Given the description of an element on the screen output the (x, y) to click on. 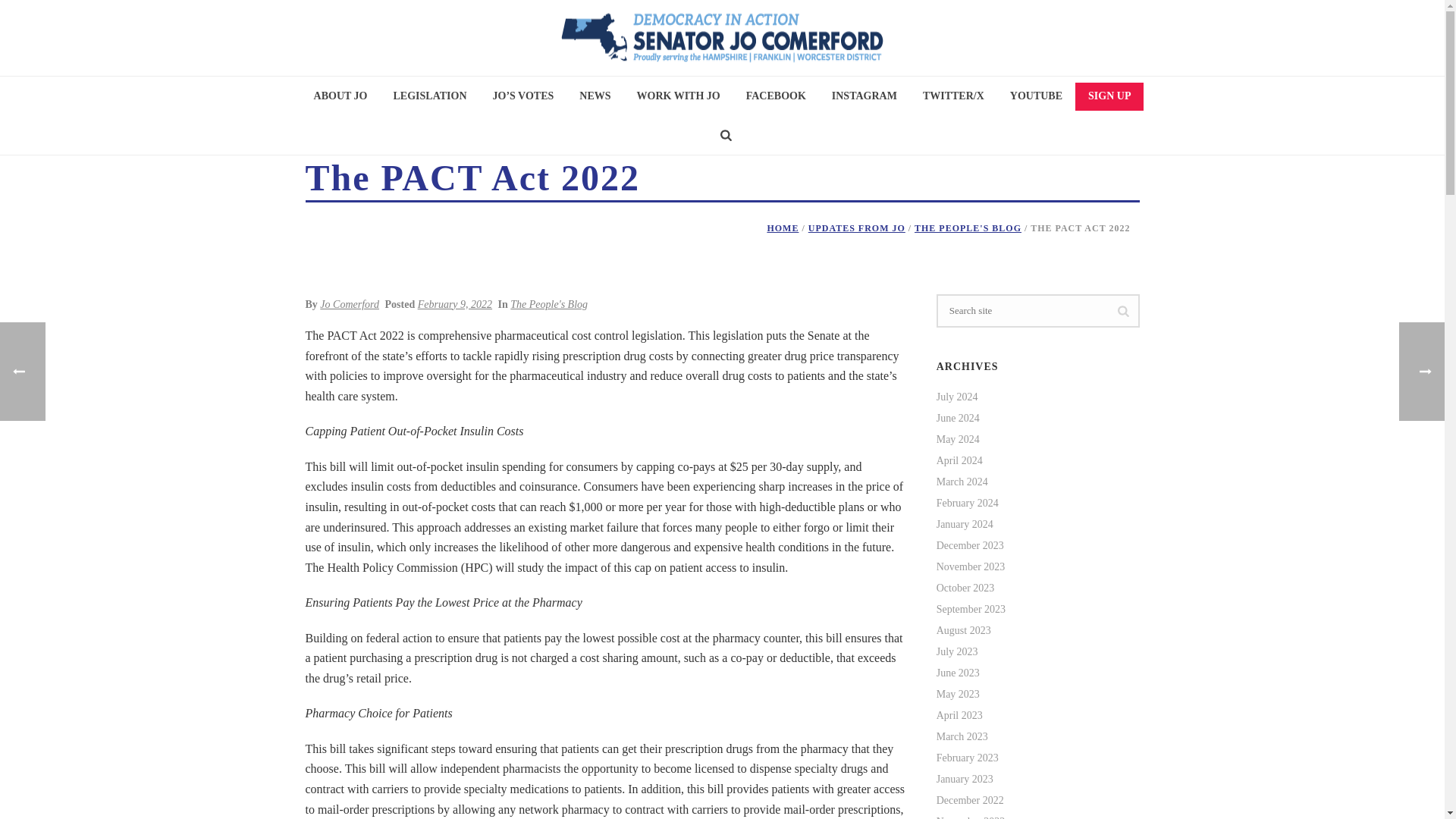
YOUTUBE (1036, 96)
LEGISLATION (430, 96)
SIGN UP (1108, 96)
NEWS (594, 96)
FACEBOOK (775, 96)
ABOUT JO (340, 96)
ABOUT JO (340, 96)
INSTAGRAM (864, 96)
INSTAGRAM (864, 96)
Posts by Jo Comerford (349, 304)
NEWS (594, 96)
FACEBOOK (775, 96)
YOUTUBE (1036, 96)
WORK WITH JO (678, 96)
Jo Comerford (721, 38)
